Given the description of an element on the screen output the (x, y) to click on. 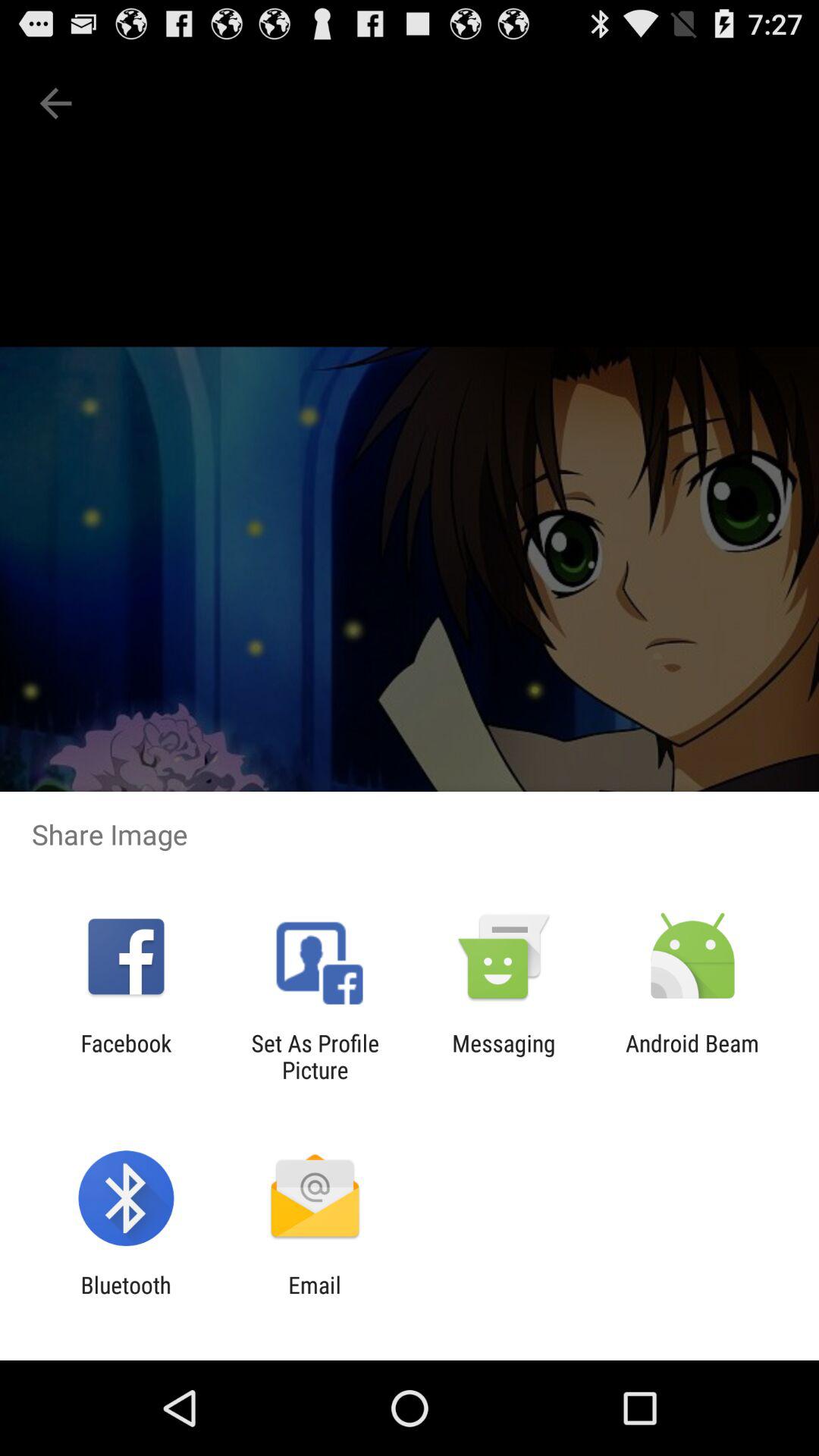
launch the item next to set as profile app (125, 1056)
